Given the description of an element on the screen output the (x, y) to click on. 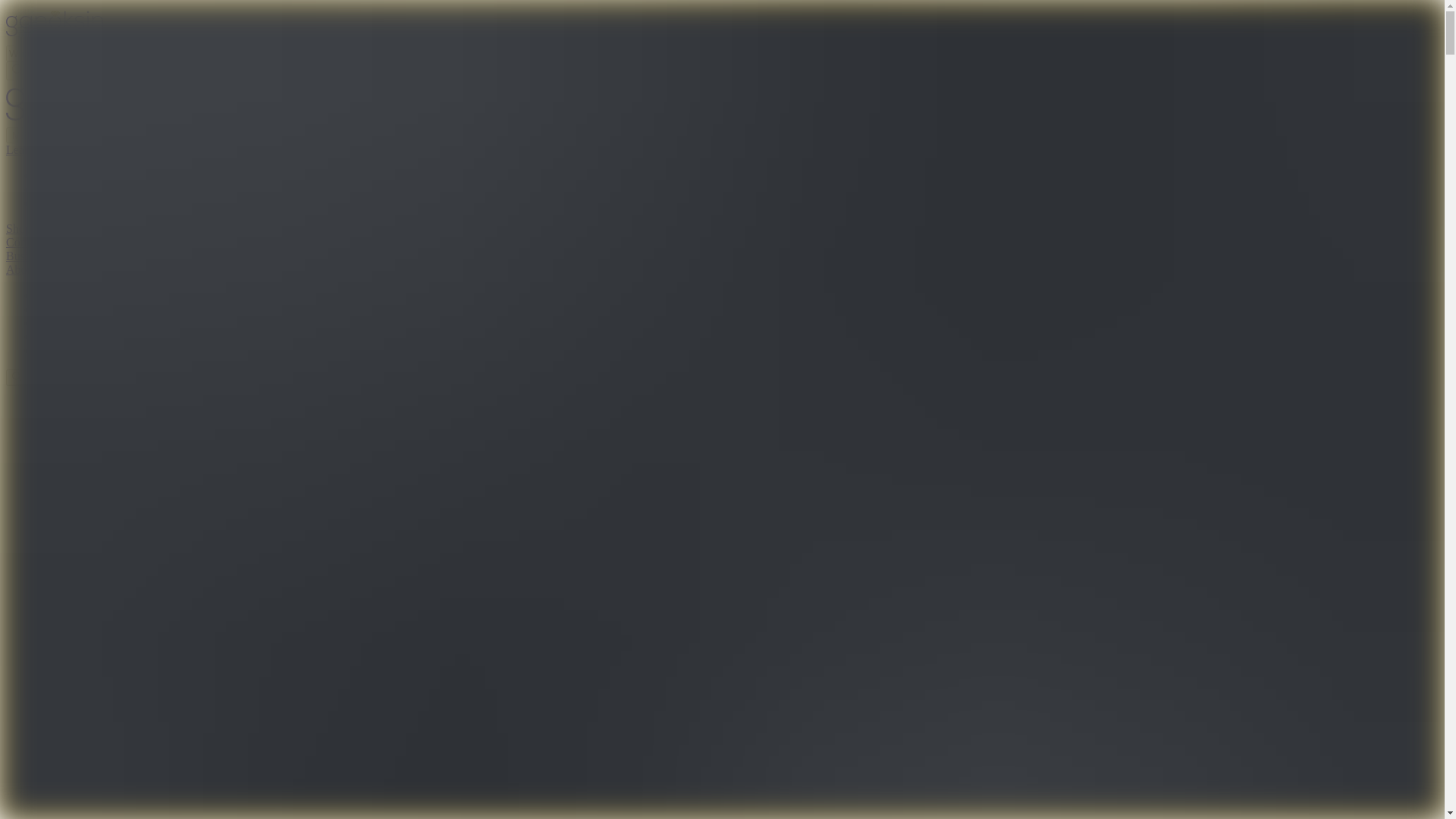
Learning Center (75, 174)
Shop (17, 228)
About (20, 269)
Learn (19, 149)
Buying Guides (72, 188)
Community (34, 241)
MEMBERSHIP (45, 135)
FAQ (47, 336)
Support (55, 349)
Courses (55, 202)
